Given the description of an element on the screen output the (x, y) to click on. 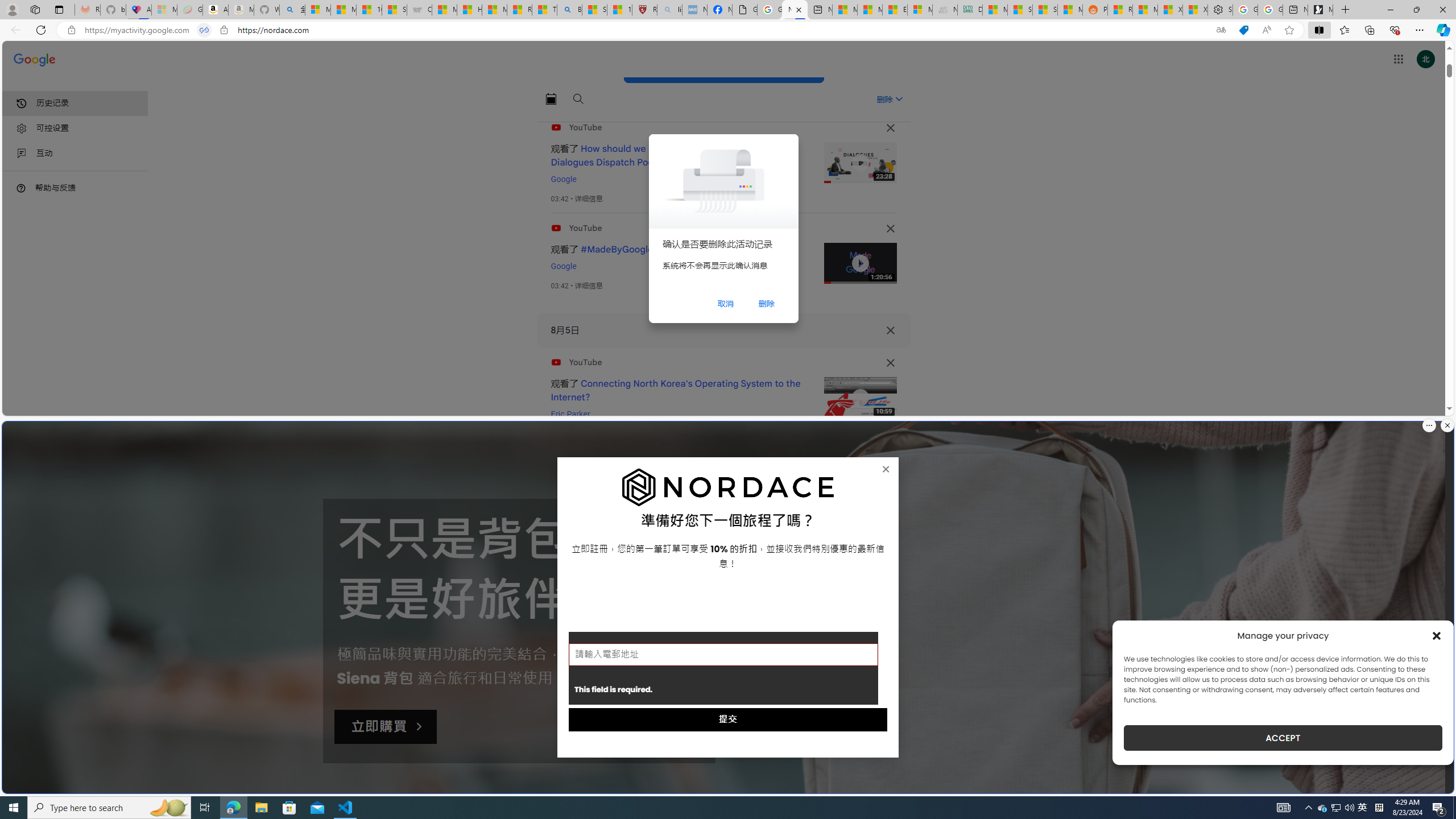
Class: i2GIId (21, 153)
Class: asE2Ub NMm5M (898, 99)
